Given the description of an element on the screen output the (x, y) to click on. 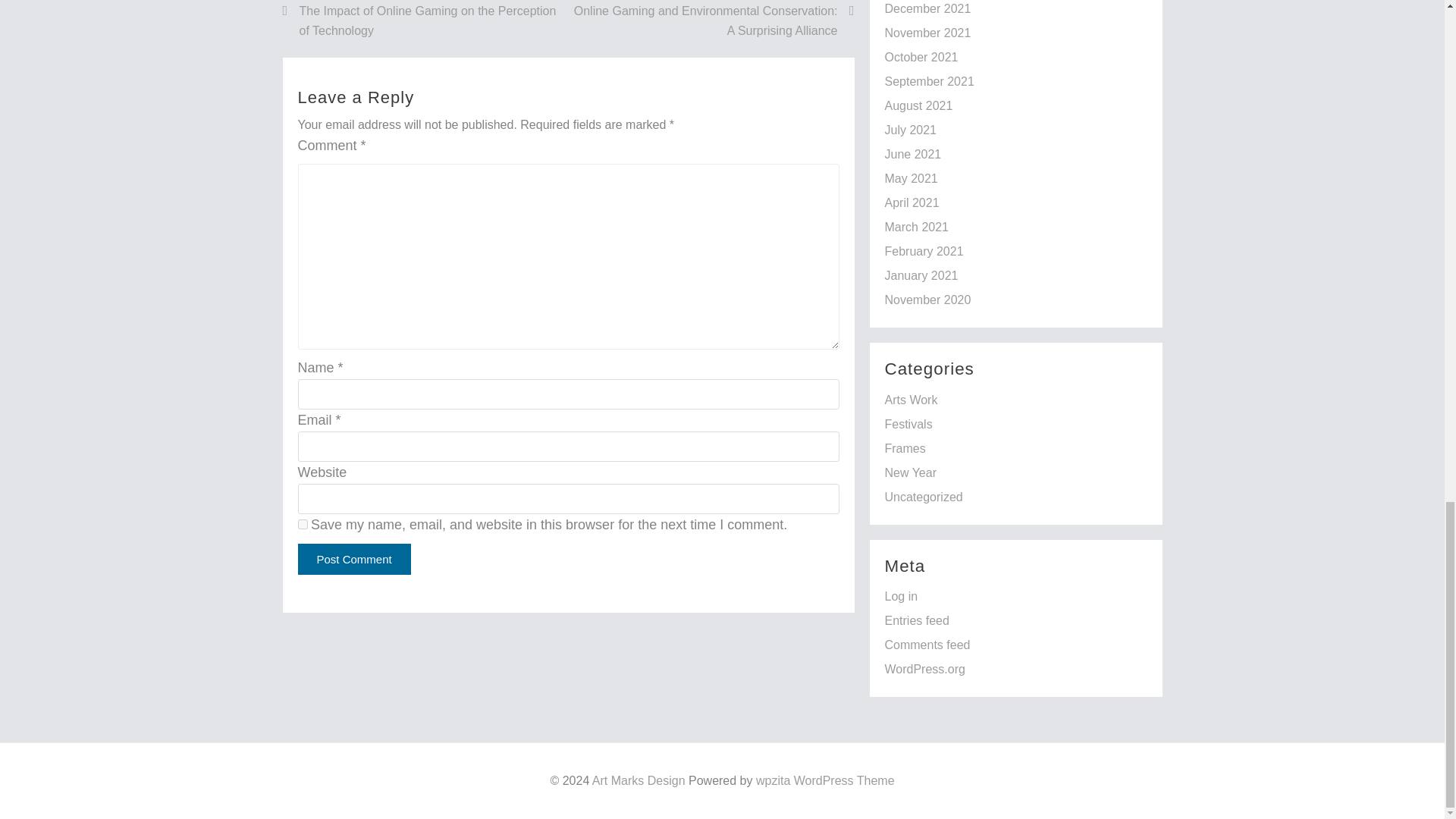
Post Comment (353, 558)
yes (302, 524)
The Impact of Online Gaming on the Perception of Technology (424, 20)
Post Comment (353, 558)
